Given the description of an element on the screen output the (x, y) to click on. 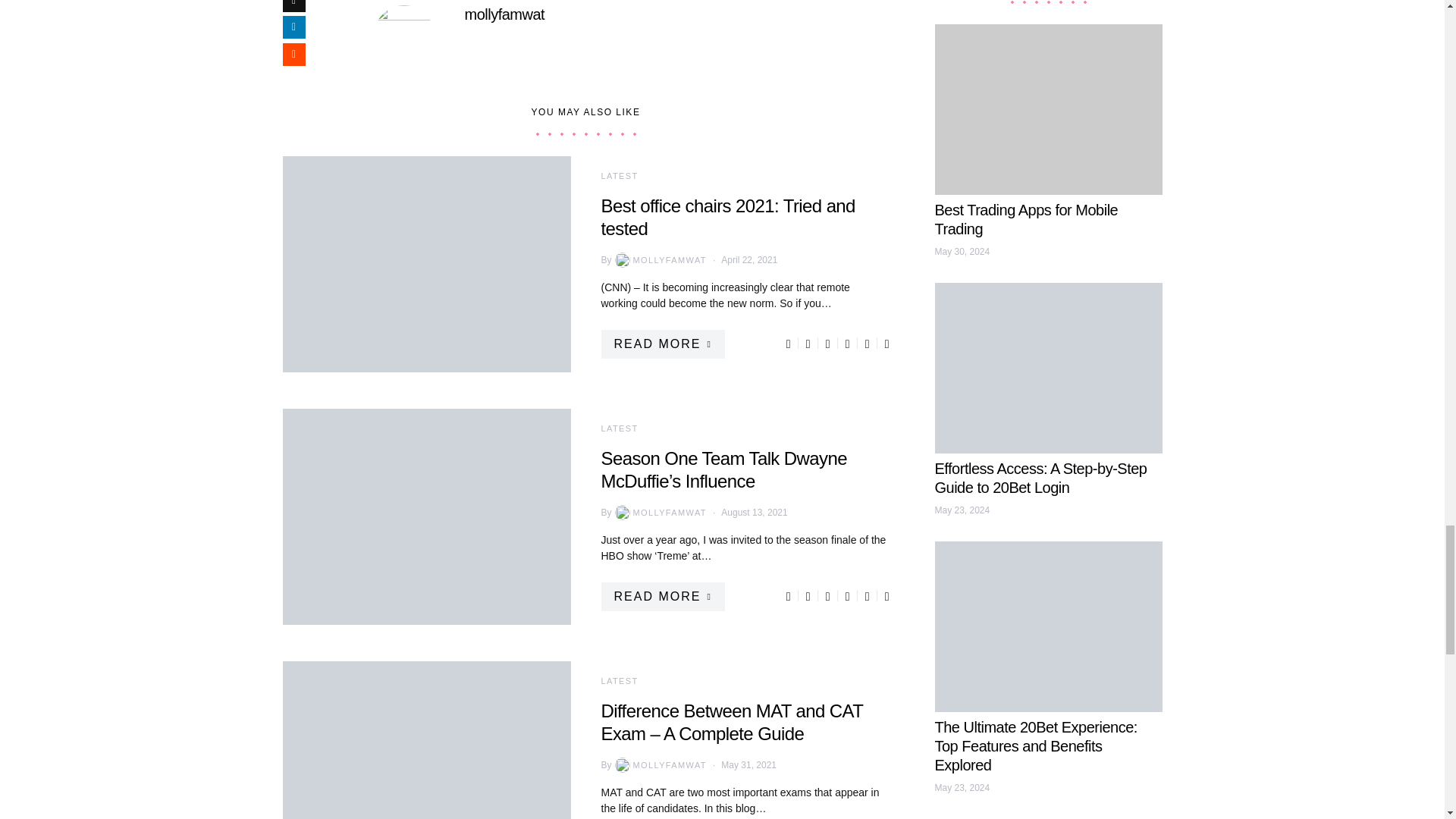
View all posts by mollyfamwat (658, 765)
View all posts by mollyfamwat (658, 512)
Best office chairs 2021: Tried and tested (426, 264)
View all posts by mollyfamwat (658, 259)
